Given the description of an element on the screen output the (x, y) to click on. 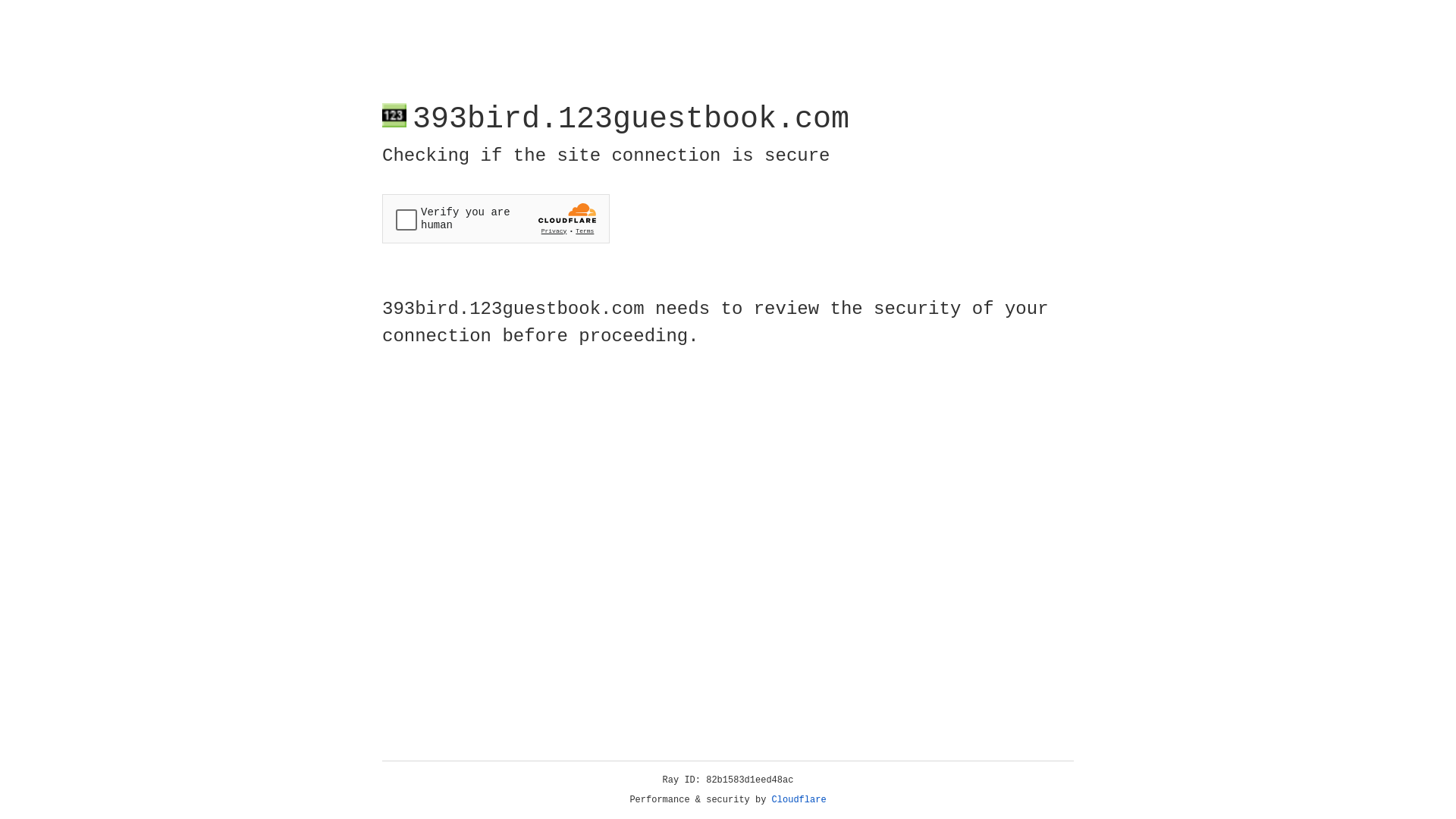
Cloudflare Element type: text (798, 799)
Widget containing a Cloudflare security challenge Element type: hover (495, 218)
